Given the description of an element on the screen output the (x, y) to click on. 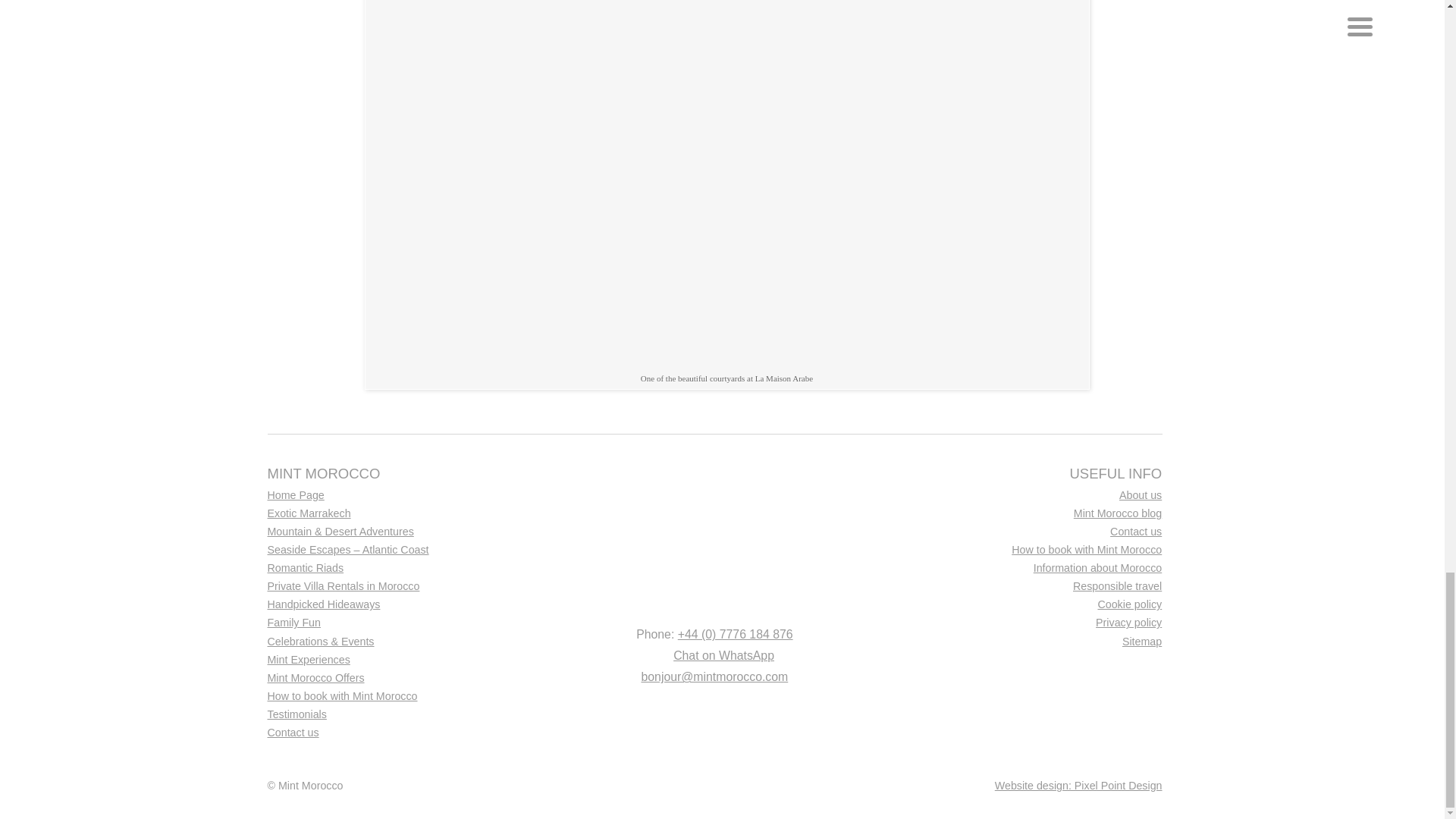
Information about Morocco (1023, 570)
Contact us (1023, 534)
Contact us (403, 735)
Romantic Riads (403, 570)
Mint Morocco blog (1023, 515)
How to book with Mint Morocco (1023, 552)
Private Villa Rentals in Morocco (403, 588)
Responsible travel (1023, 588)
Exotic Marrakech (403, 515)
How to book with Mint Morocco (403, 699)
Mint Morocco Offers (403, 680)
About us (1023, 497)
Privacy policy (1023, 625)
Home Page (403, 497)
Testimonials (403, 717)
